Given the description of an element on the screen output the (x, y) to click on. 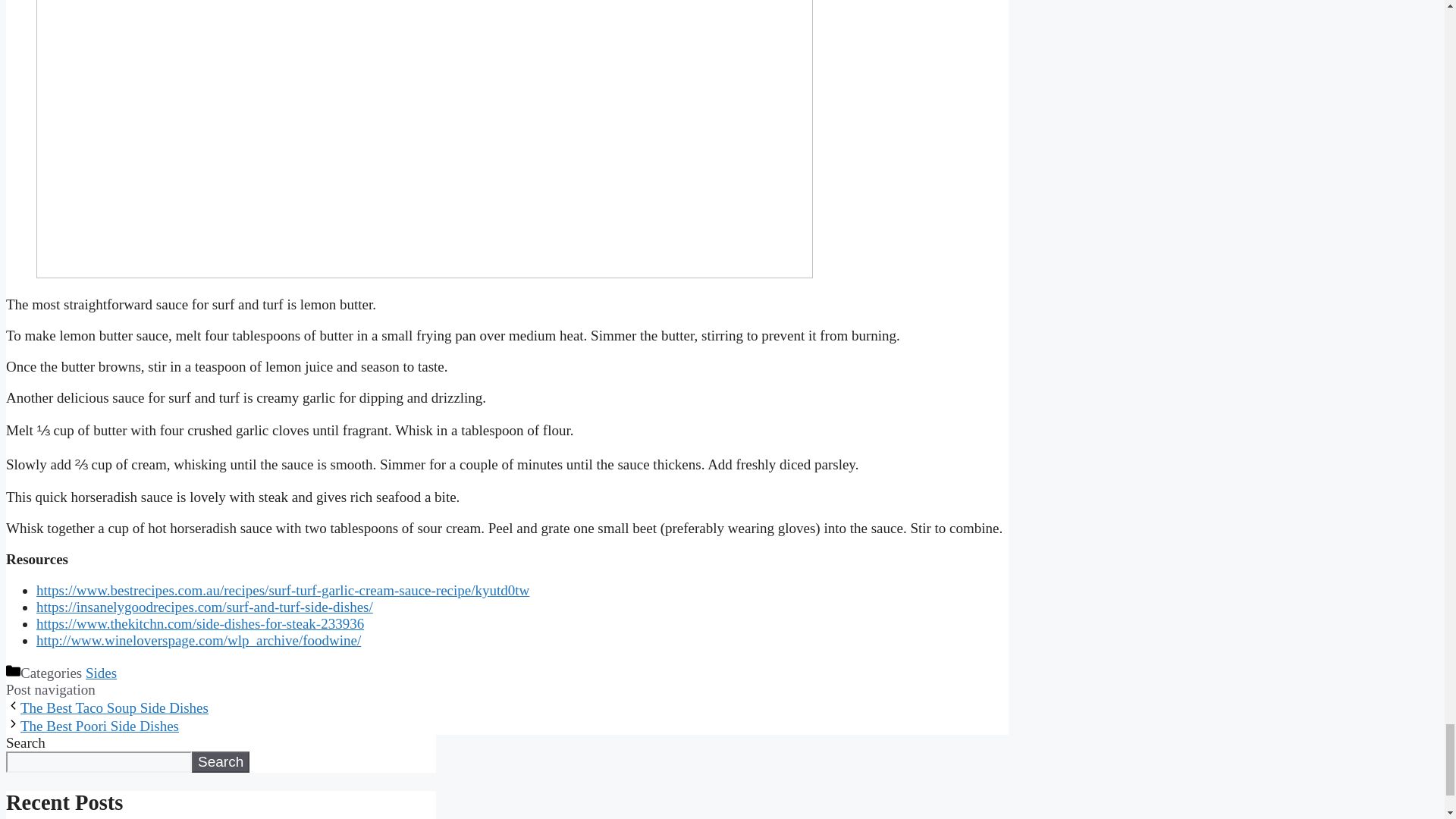
The Best Taco Soup Side Dishes (114, 707)
Sides (100, 672)
Next (99, 725)
Previous (114, 707)
Search (220, 762)
The Best Poori Side Dishes (99, 725)
